Given the description of an element on the screen output the (x, y) to click on. 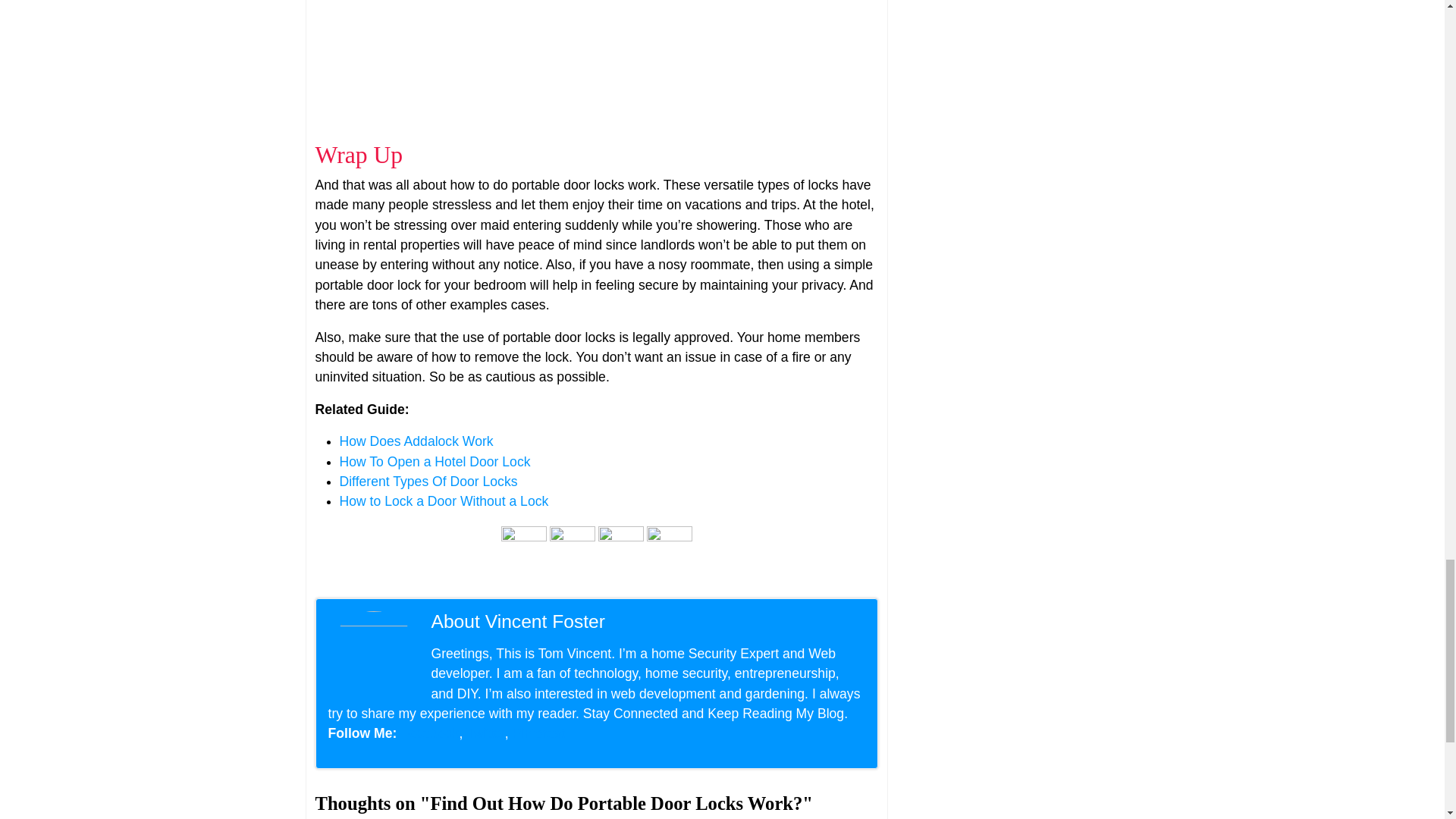
Twitter (485, 733)
How to Lock a Door Without a Lock (443, 500)
Different Types Of Door Locks (428, 481)
Pinterest (538, 733)
How Does Addalock Work (416, 441)
How To Open a Hotel Door Lock (435, 461)
Facebook (429, 733)
